Given the description of an element on the screen output the (x, y) to click on. 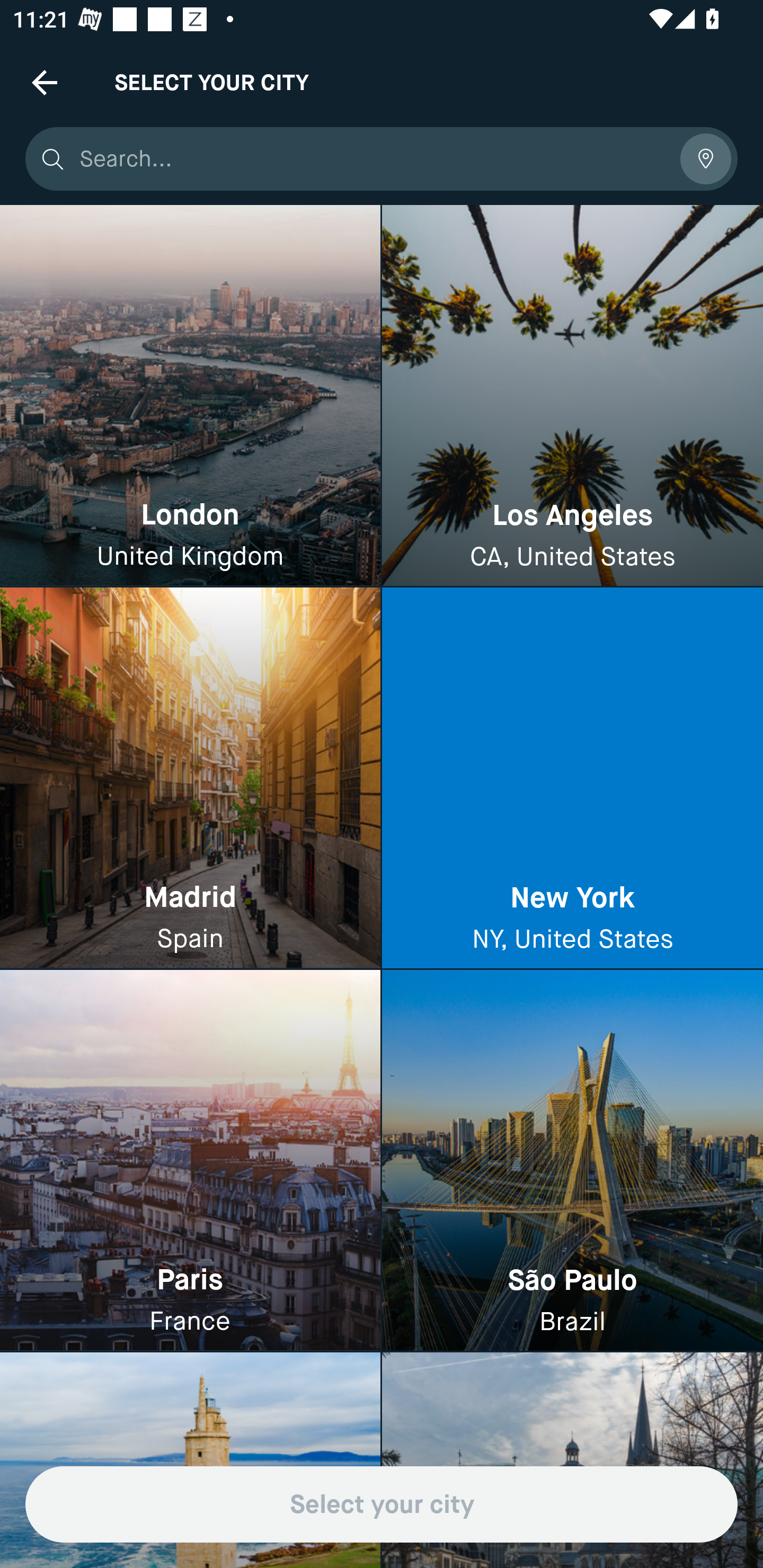
Navigate up (44, 82)
Search... (373, 159)
London United Kingdom (190, 395)
Los Angeles CA, United States (572, 395)
Madrid Spain (190, 778)
New York NY, United States (572, 778)
Paris France (190, 1160)
São Paulo Brazil (572, 1160)
Select your city (381, 1504)
